Given the description of an element on the screen output the (x, y) to click on. 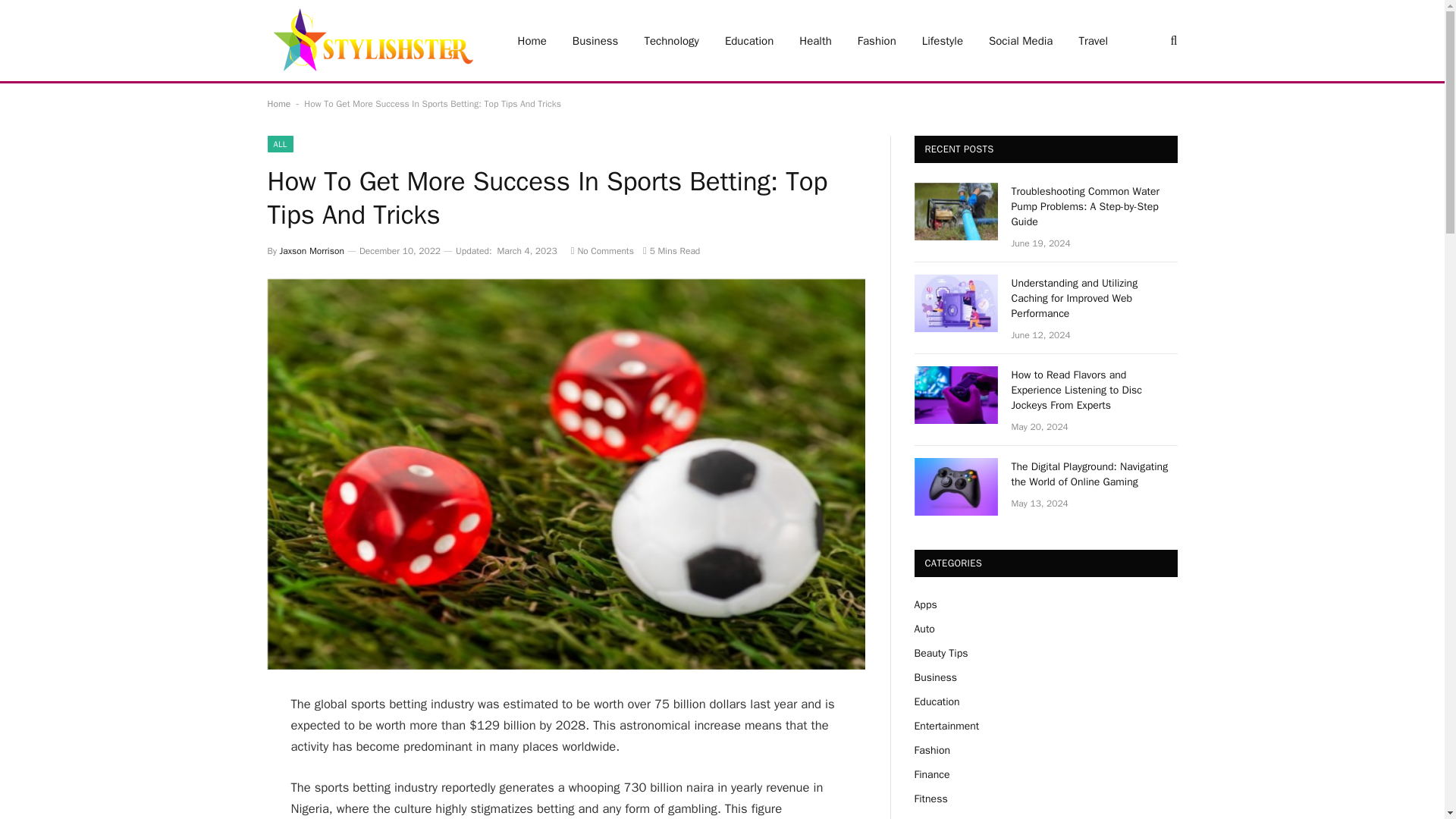
No Comments (601, 250)
Education (748, 40)
Posts by Jaxson Morrison (311, 250)
Stylishster (371, 40)
Apps (925, 604)
Home (277, 103)
Business (935, 676)
Jaxson Morrison (311, 250)
Social Media (1020, 40)
